Given the description of an element on the screen output the (x, y) to click on. 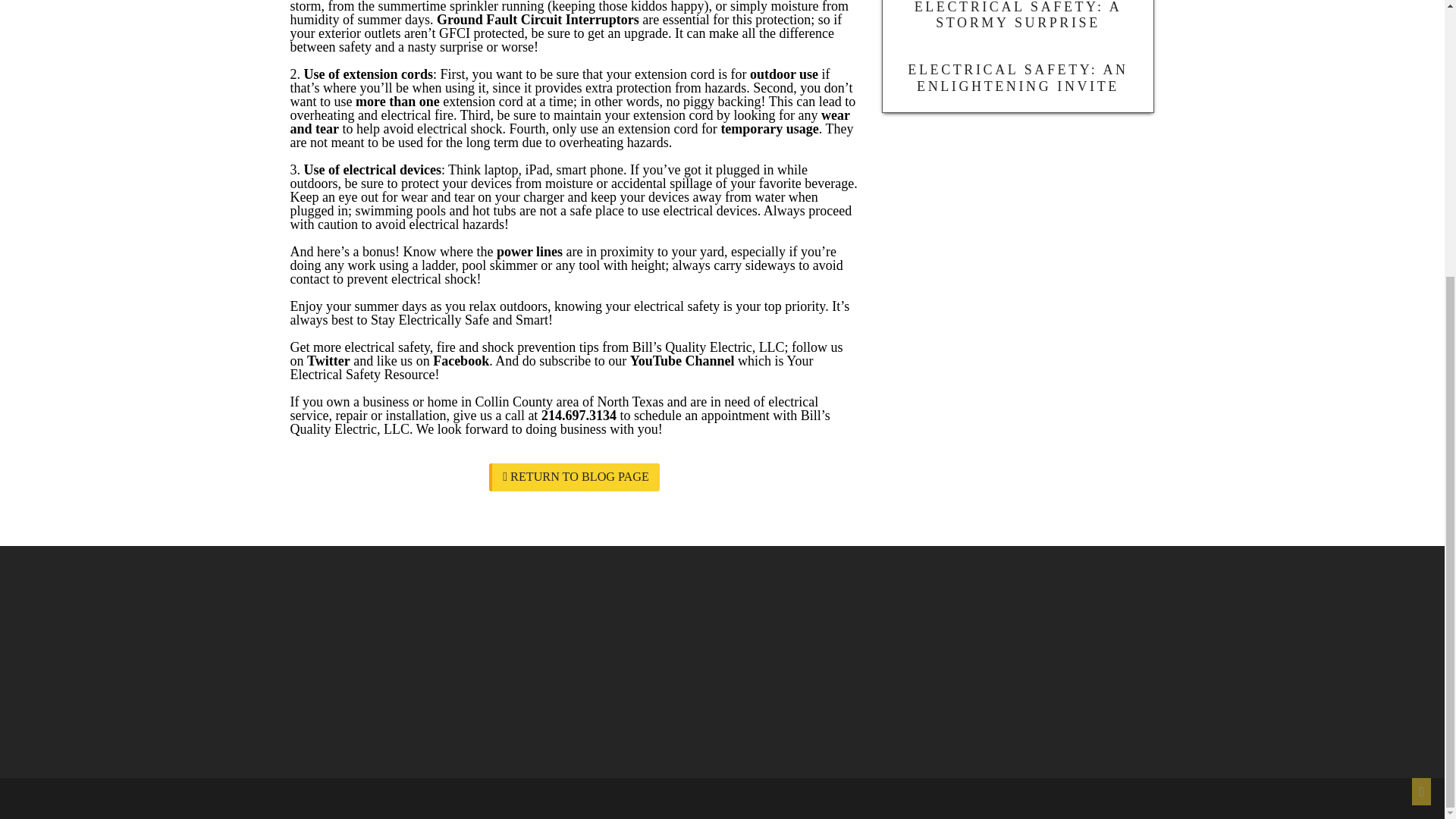
ELECTRICAL SAFETY: A STORMY SURPRISE (1018, 24)
RETURN TO BLOG PAGE (574, 477)
YouTube Channel (682, 360)
Twitter (328, 360)
ELECTRICAL SAFETY: AN ENLIGHTENING INVITE (1018, 80)
Facebook (460, 360)
